Given the description of an element on the screen output the (x, y) to click on. 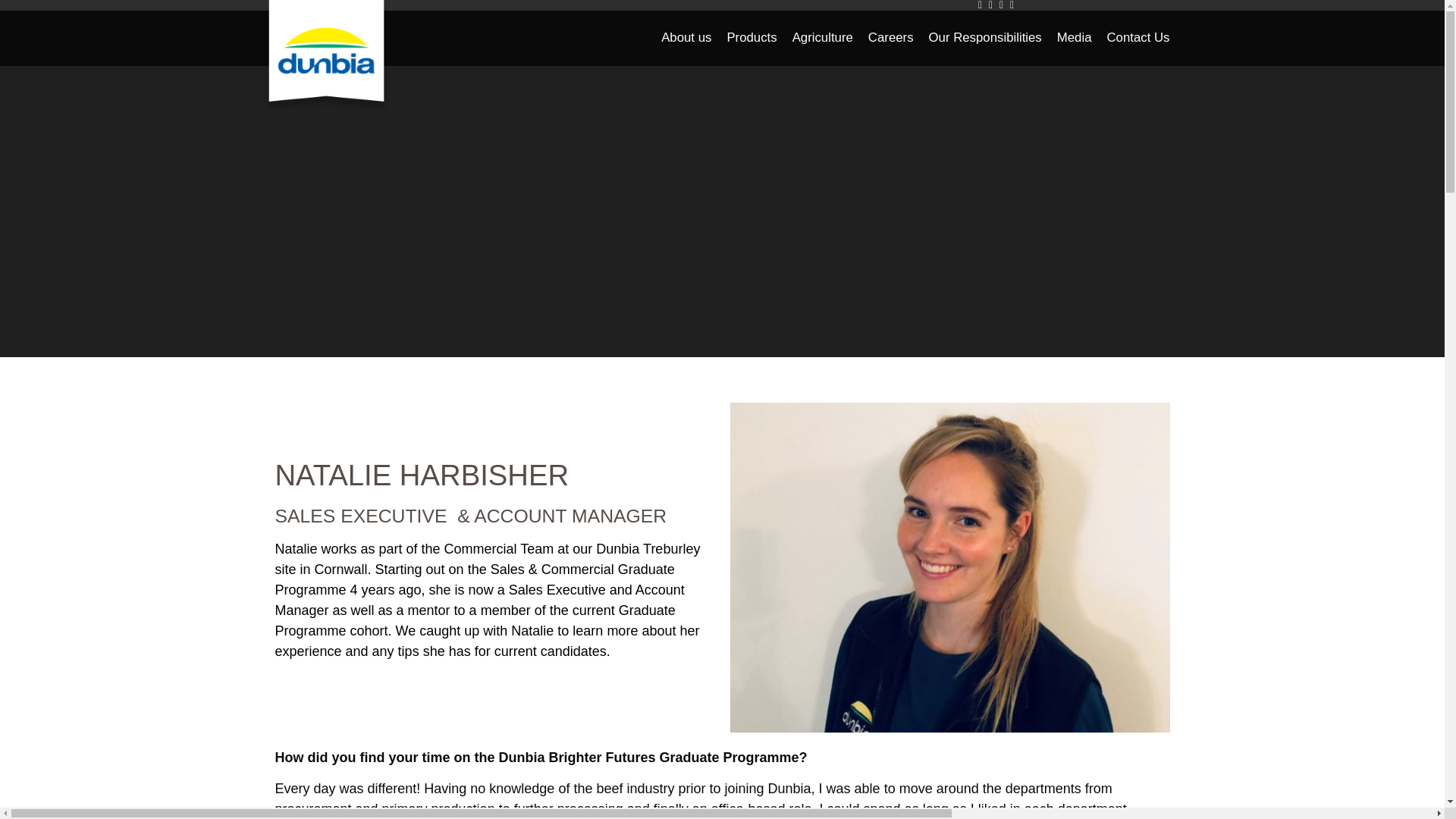
Media (1074, 38)
LinkedIn (1000, 5)
About us (686, 38)
Twitter (990, 5)
YouTube (1011, 5)
Products (751, 38)
Careers (890, 38)
Our Responsibilities (985, 38)
Contact Us (1137, 38)
Facebook (979, 5)
Agriculture (822, 38)
